Given the description of an element on the screen output the (x, y) to click on. 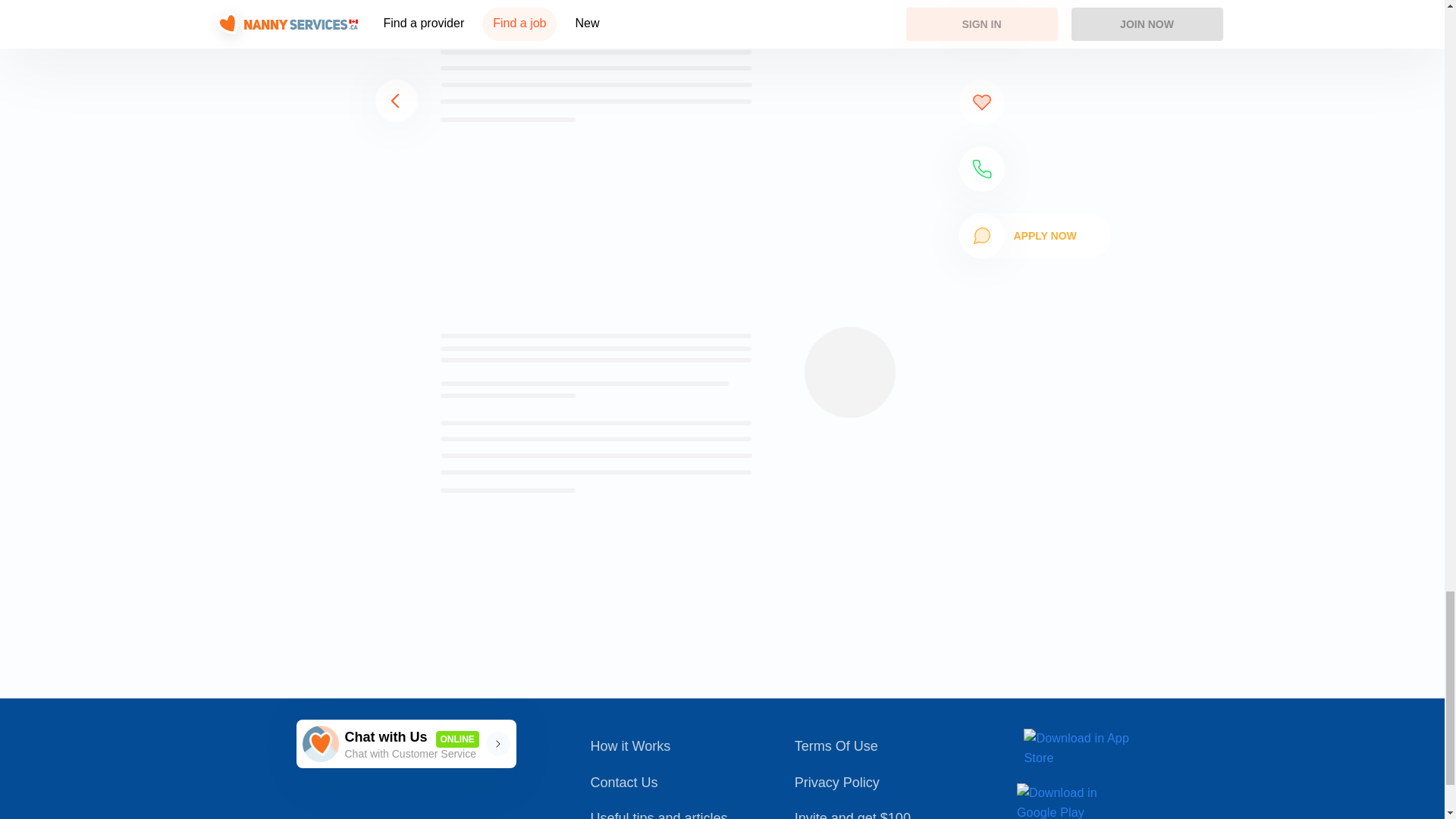
Useful tips and articles (668, 814)
Loading... (405, 743)
Terms Of Use (668, 746)
Contact Us (878, 746)
Loading... (668, 782)
